Given the description of an element on the screen output the (x, y) to click on. 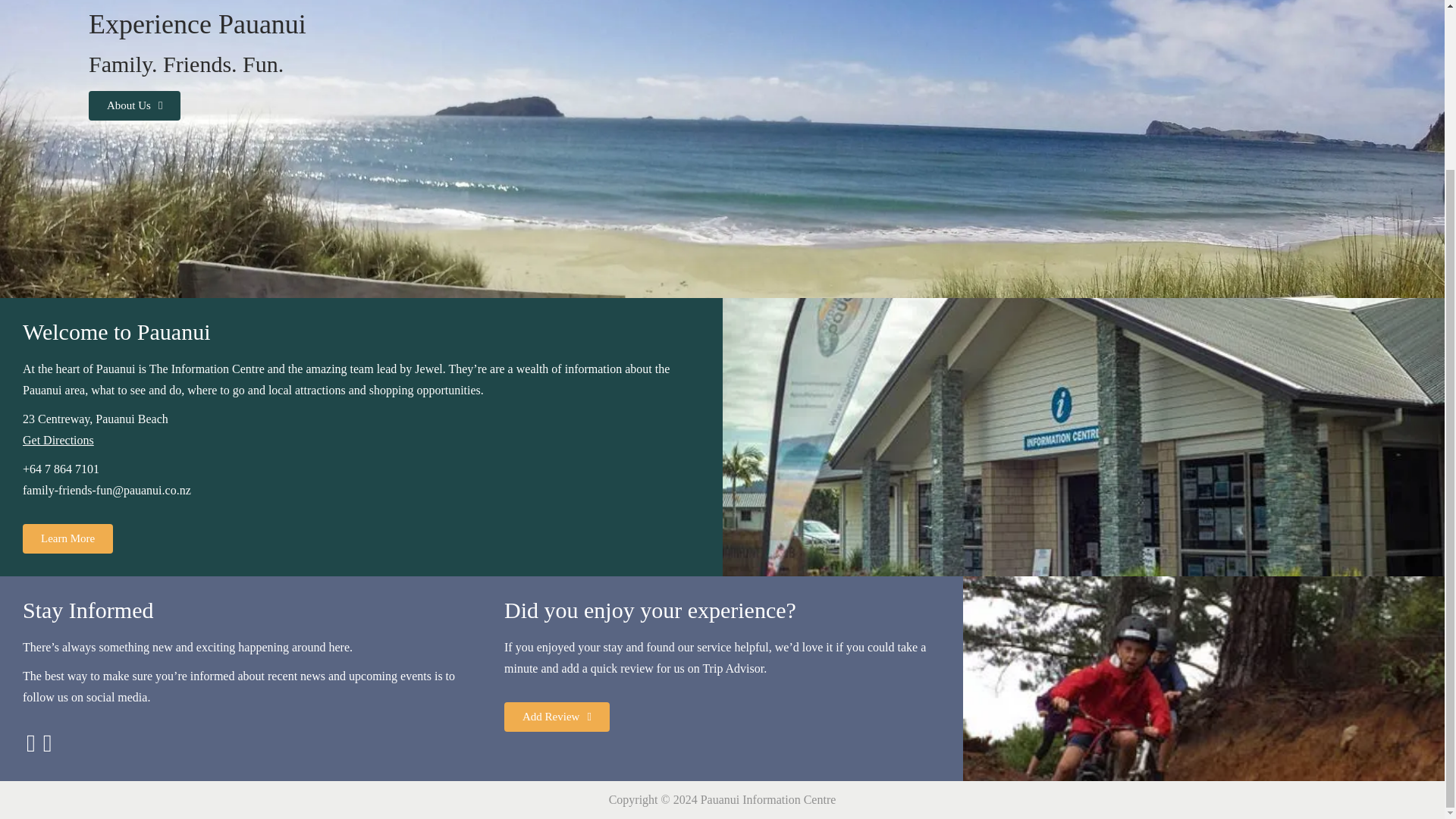
Learn More (68, 538)
About Us (134, 105)
Get Directions (58, 440)
Add Review (556, 716)
